Given the description of an element on the screen output the (x, y) to click on. 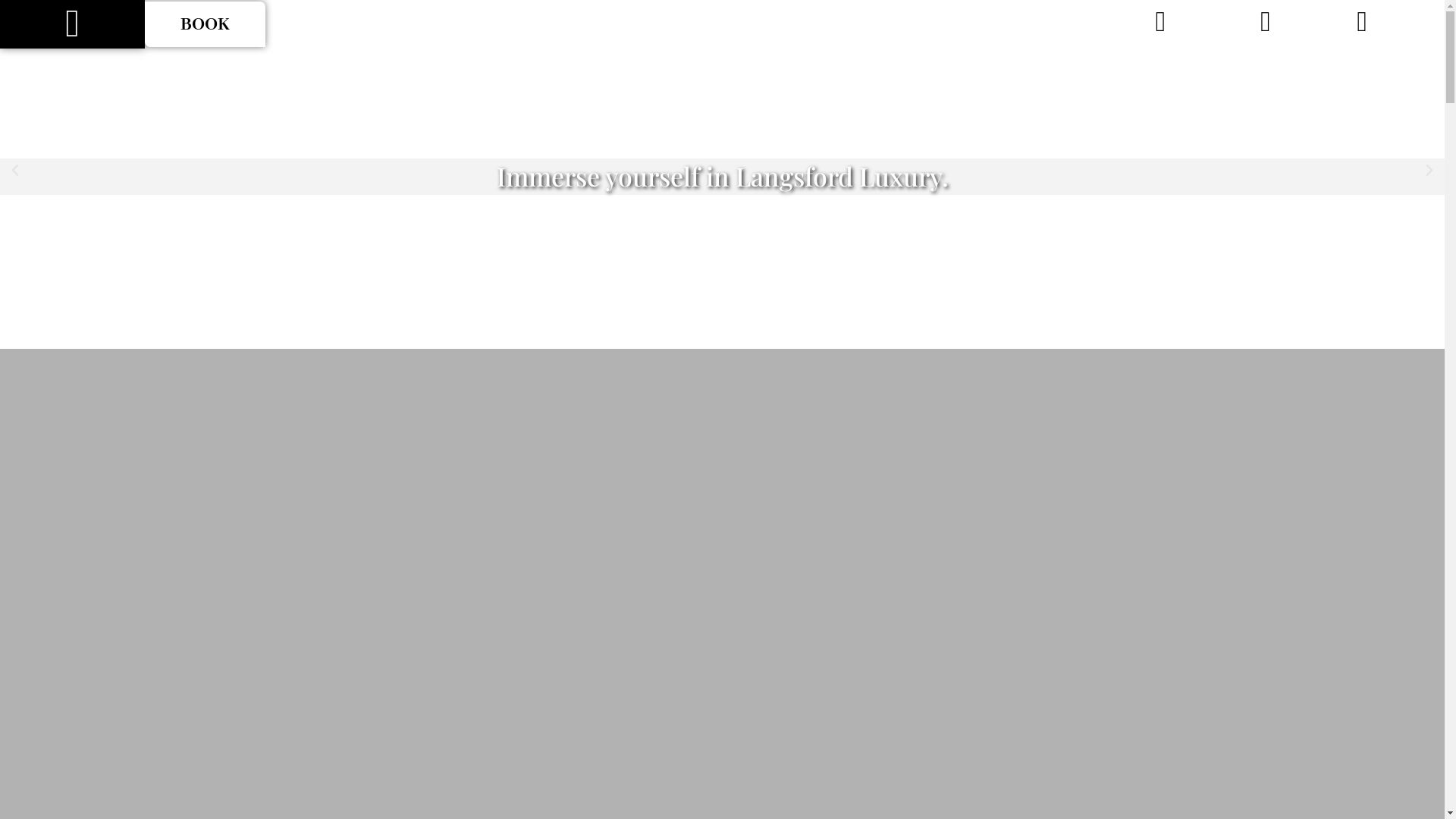
BOOK Element type: text (204, 24)
